Given the description of an element on the screen output the (x, y) to click on. 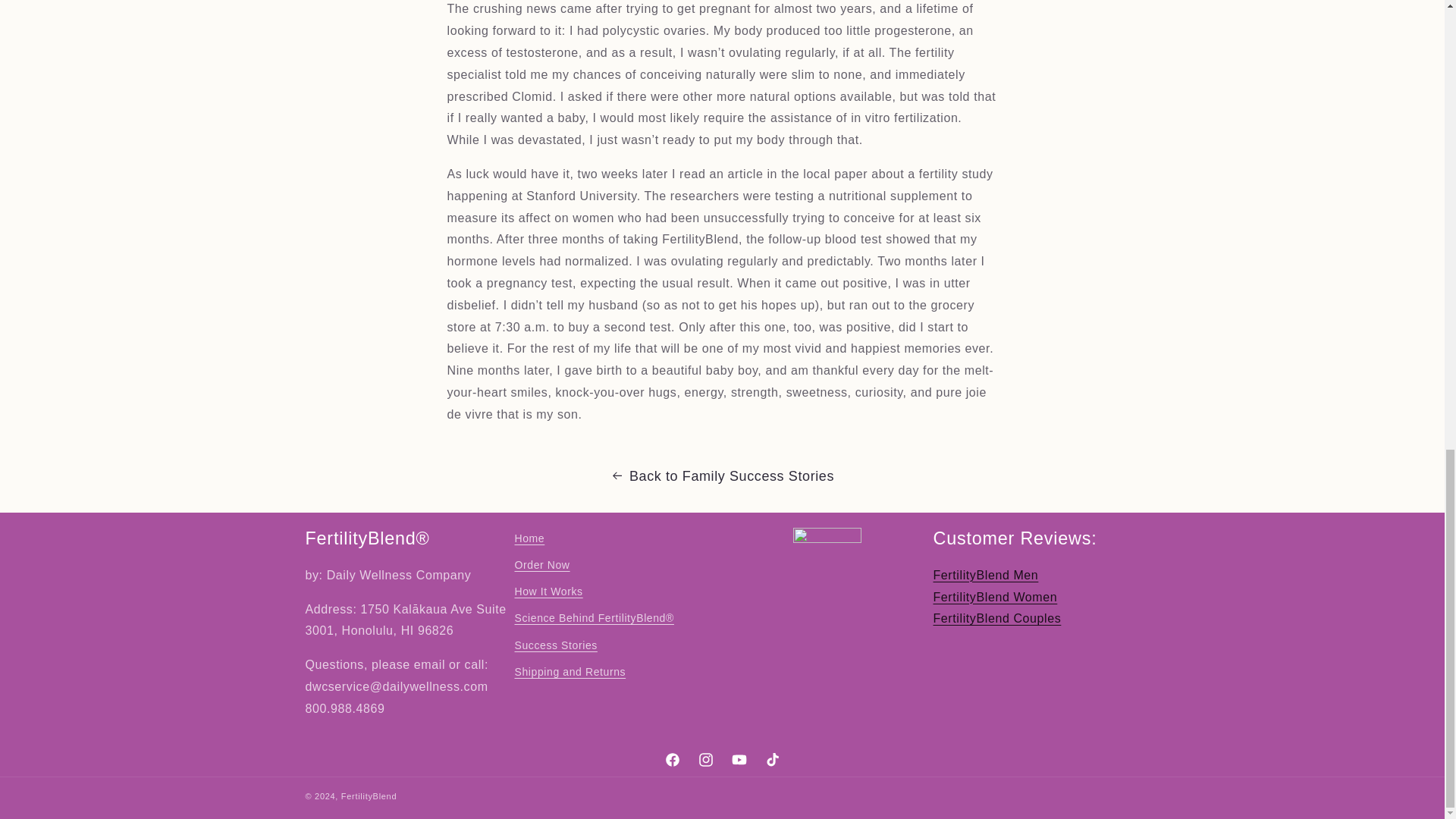
Shipping and Returns (569, 672)
How It Works (547, 591)
Order Now (541, 565)
FertilityBlend Couples (997, 617)
Success Stories (554, 645)
Facebook (671, 758)
FertilityBlend Women (995, 596)
Home (528, 540)
FertilityBlend Men (985, 574)
